Given the description of an element on the screen output the (x, y) to click on. 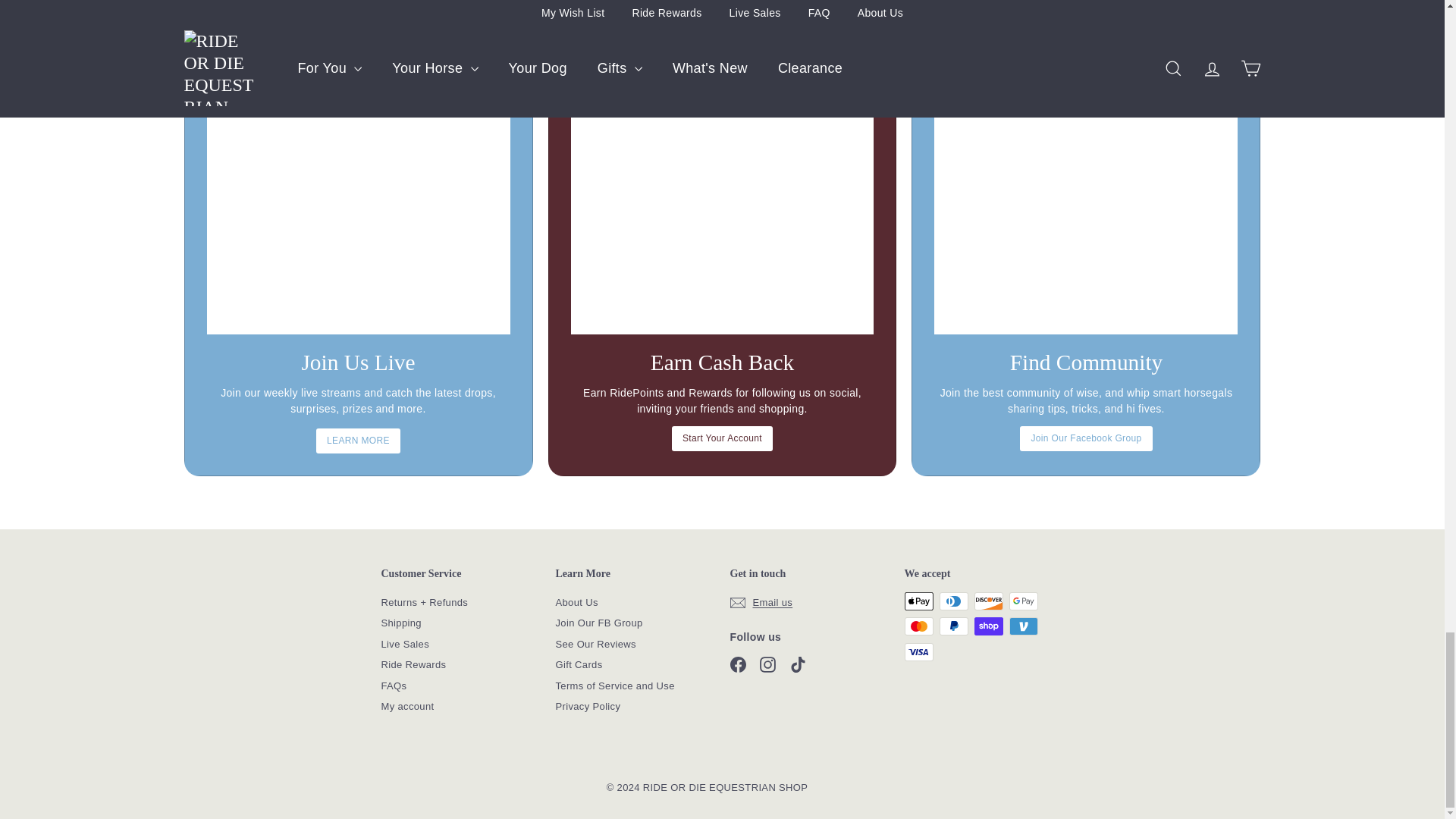
Diners Club (953, 601)
Apple Pay (918, 601)
Google Pay (1022, 601)
Shop Pay (988, 626)
Discover (988, 601)
PayPal (953, 626)
Venmo (1022, 626)
Mastercard (918, 626)
